Given the description of an element on the screen output the (x, y) to click on. 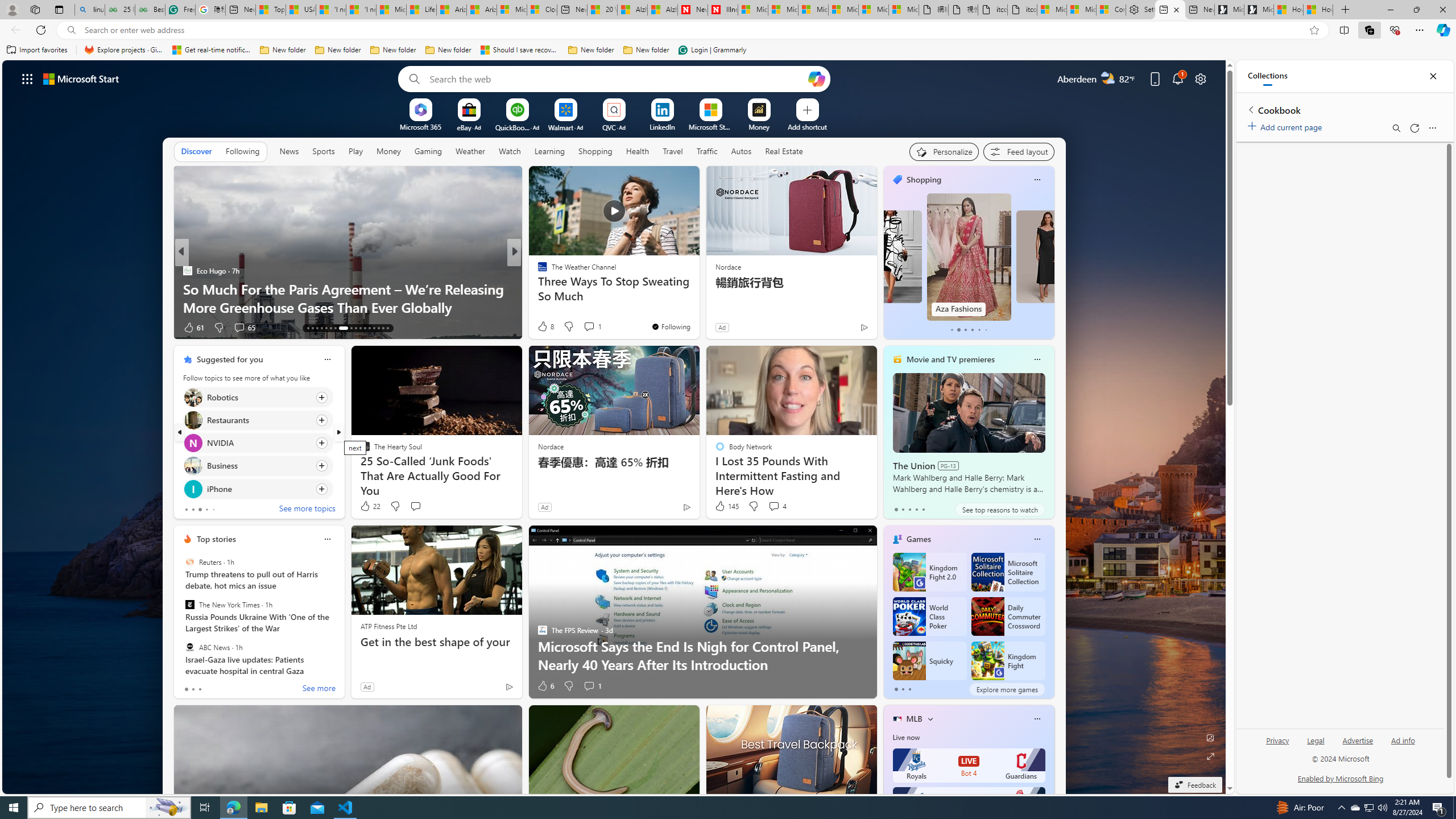
Newsweek - News, Analysis, Politics, Business, Technology (691, 9)
AutomationID: tab-23 (360, 328)
40 Like (543, 327)
AutomationID: backgroundImagePicture (613, 426)
Click to follow topic Business (257, 465)
View comments 3 Comment (596, 327)
previous (179, 432)
